Given the description of an element on the screen output the (x, y) to click on. 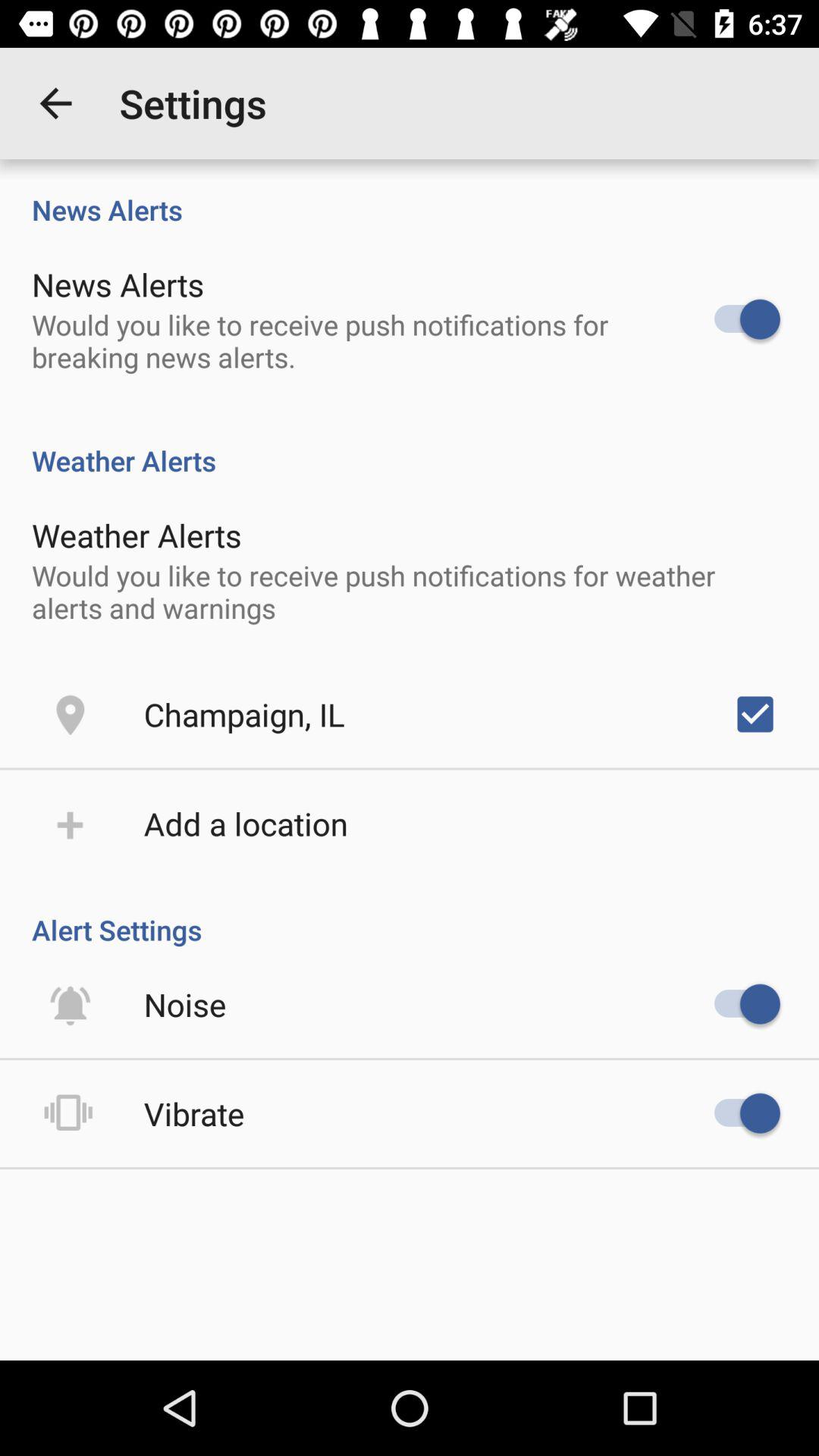
turn on the icon above the news alerts item (55, 103)
